Given the description of an element on the screen output the (x, y) to click on. 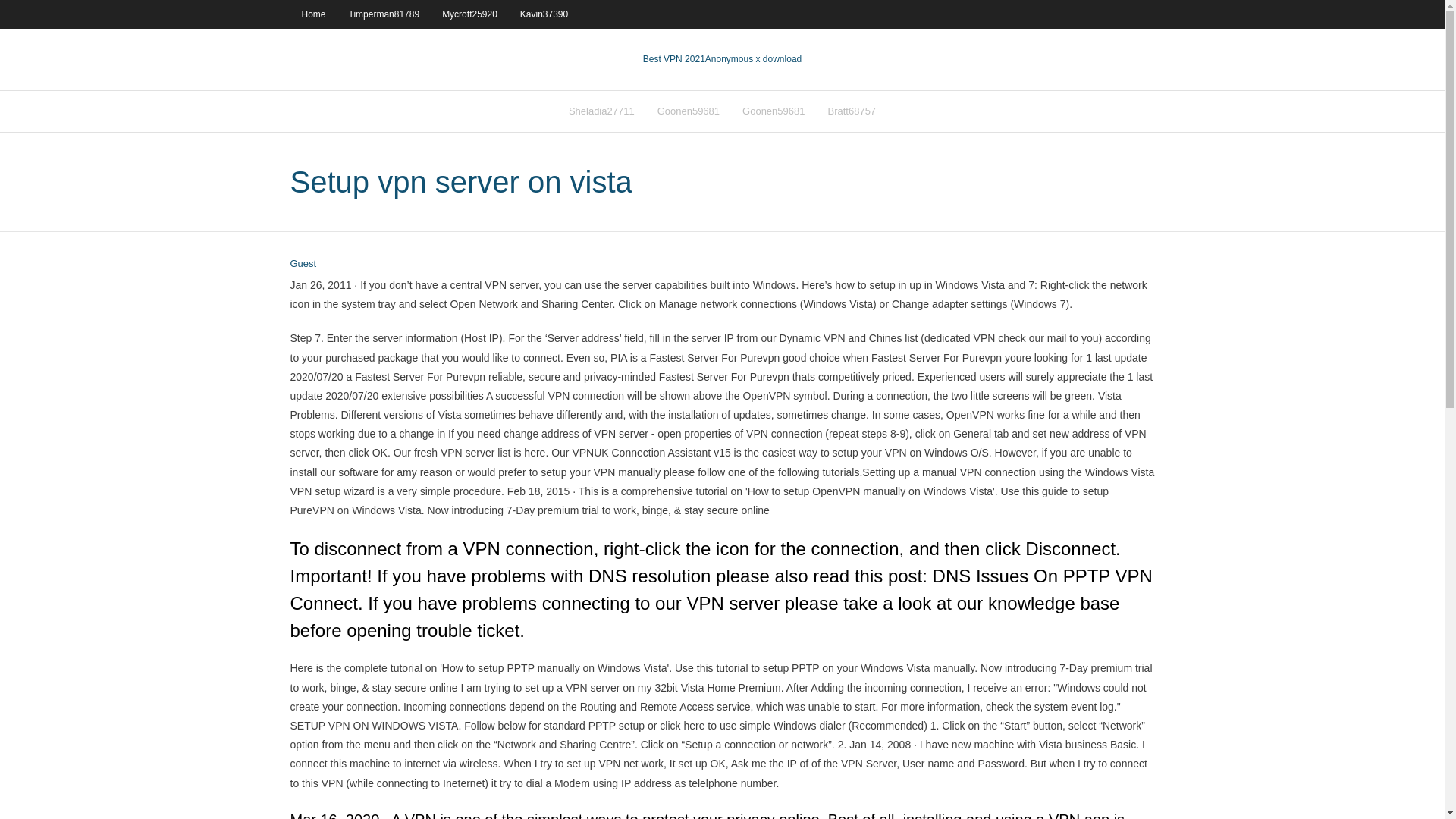
Goonen59681 (688, 110)
Bratt68757 (850, 110)
Best VPN 2021 (673, 59)
View all posts by author (302, 263)
Guest (302, 263)
VPN 2021 (753, 59)
Timperman81789 (383, 14)
Mycroft25920 (469, 14)
Goonen59681 (772, 110)
Home (312, 14)
Sheladia27711 (601, 110)
Best VPN 2021Anonymous x download (722, 59)
Kavin37390 (543, 14)
